Given the description of an element on the screen output the (x, y) to click on. 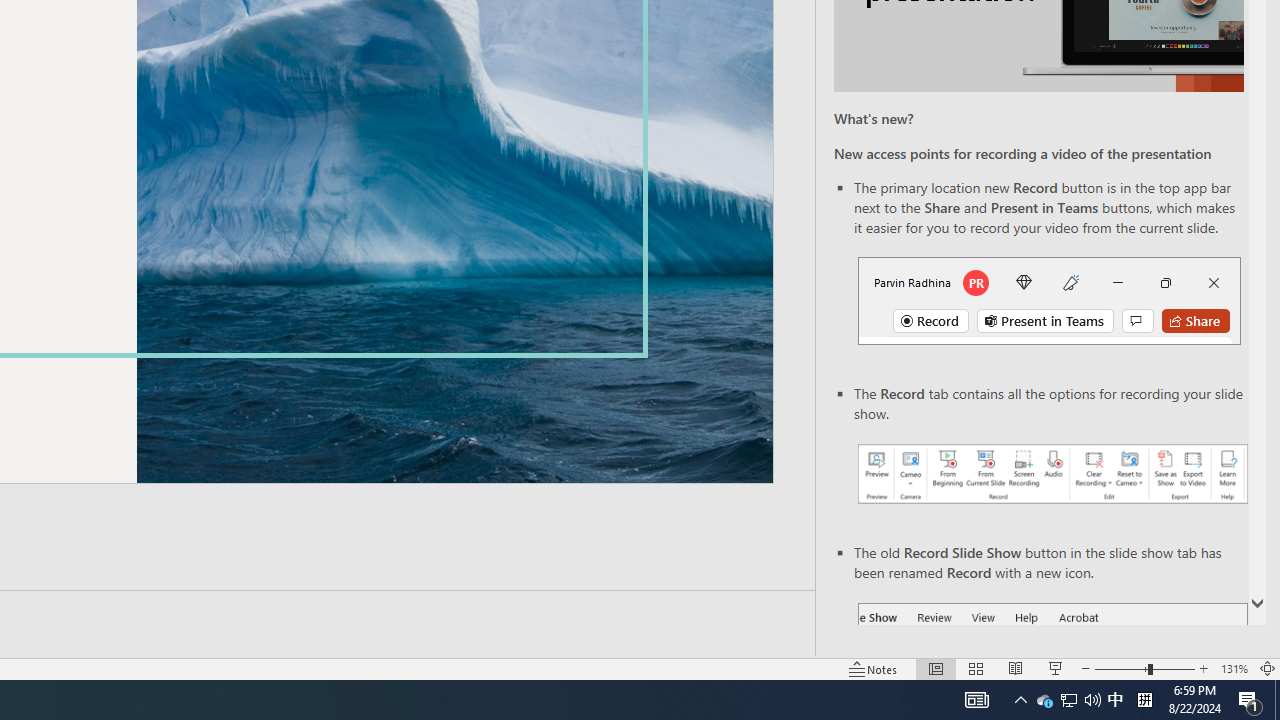
Zoom 131% (1234, 668)
Record your presentations screenshot one (1052, 473)
Record button in top bar (1049, 300)
